Given the description of an element on the screen output the (x, y) to click on. 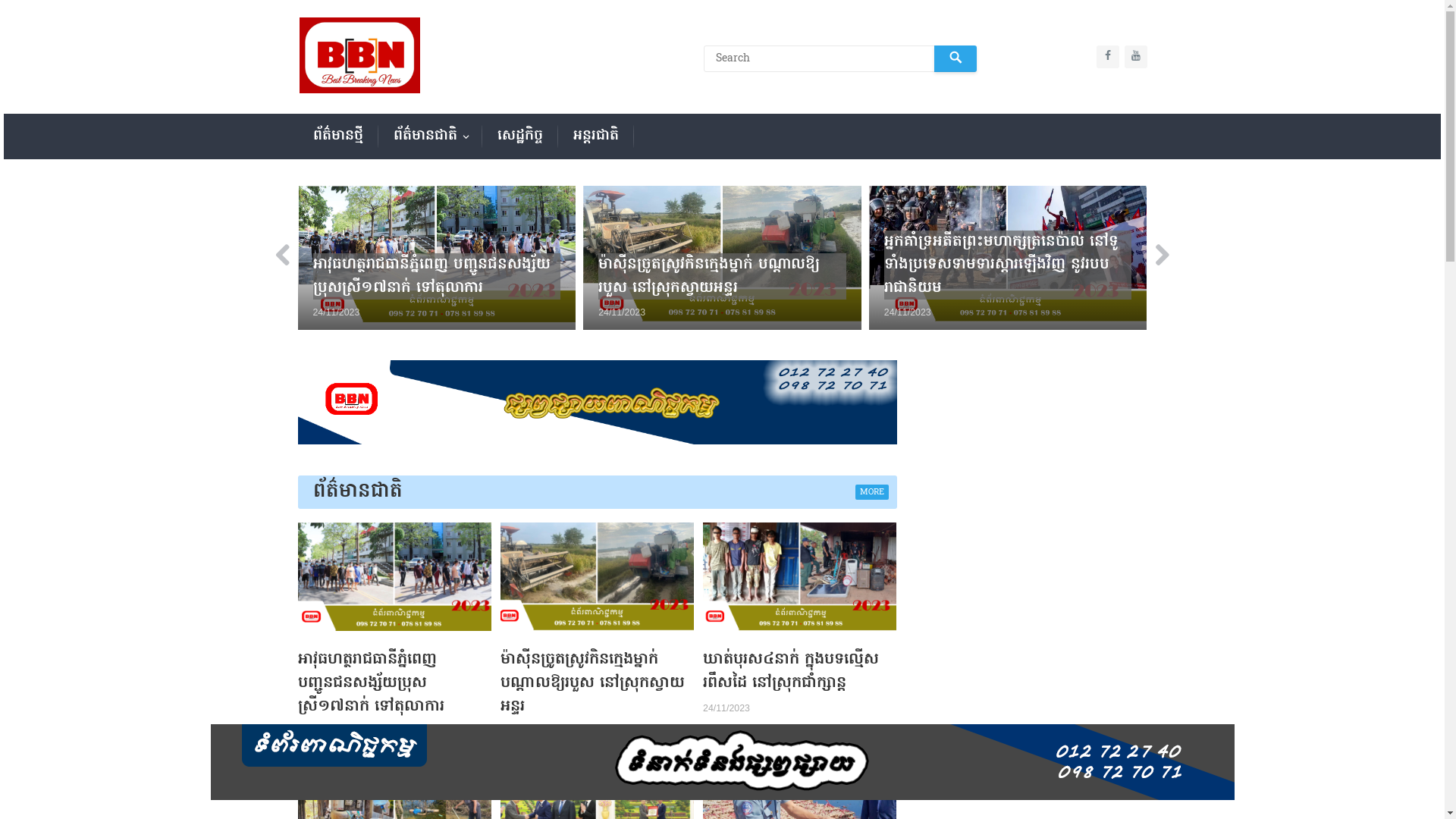
MORE Element type: text (871, 491)
Previous Element type: text (287, 257)
Next Element type: text (1155, 257)
